Given the description of an element on the screen output the (x, y) to click on. 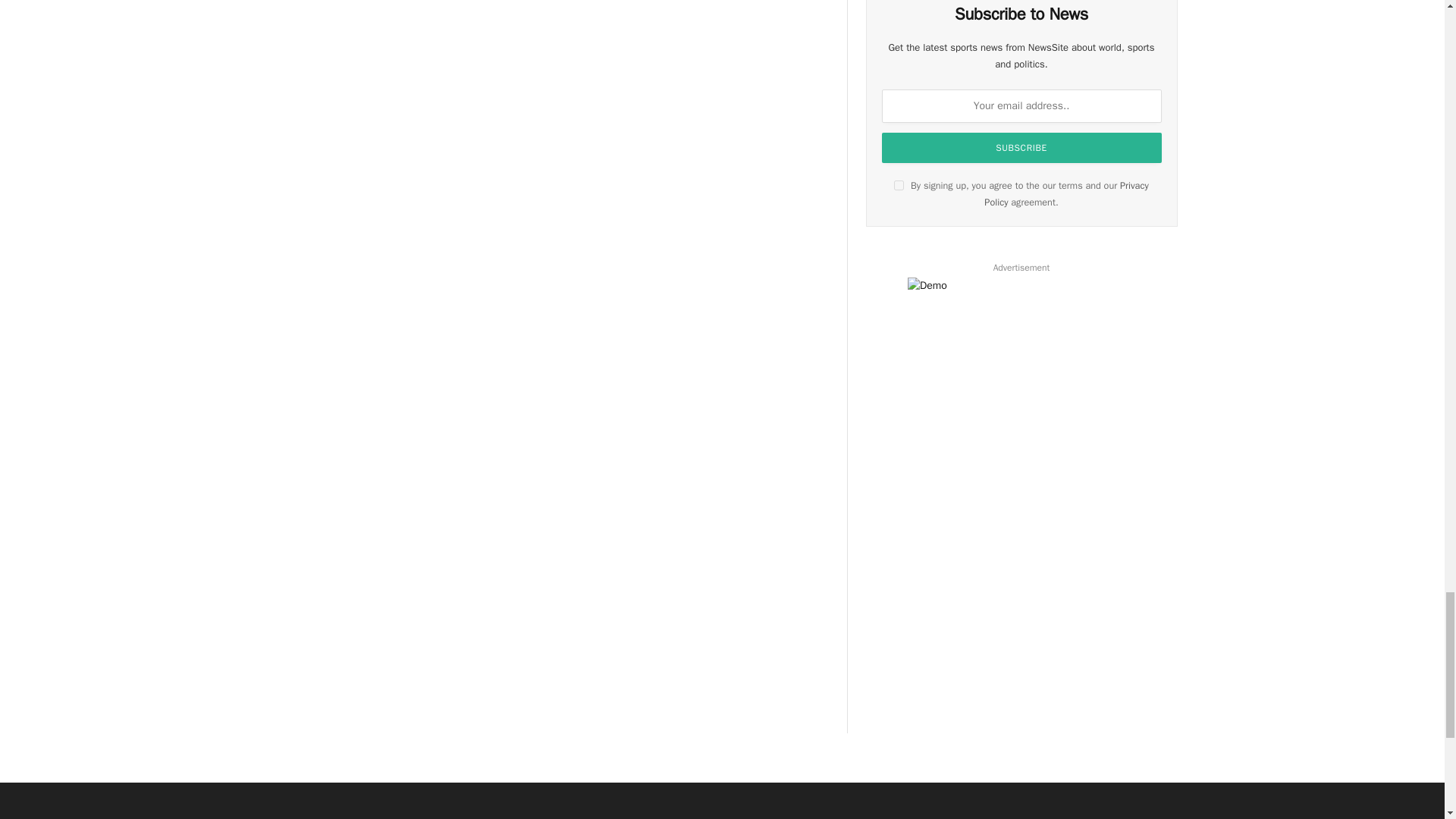
Subscribe (1021, 147)
on (898, 185)
